Given the description of an element on the screen output the (x, y) to click on. 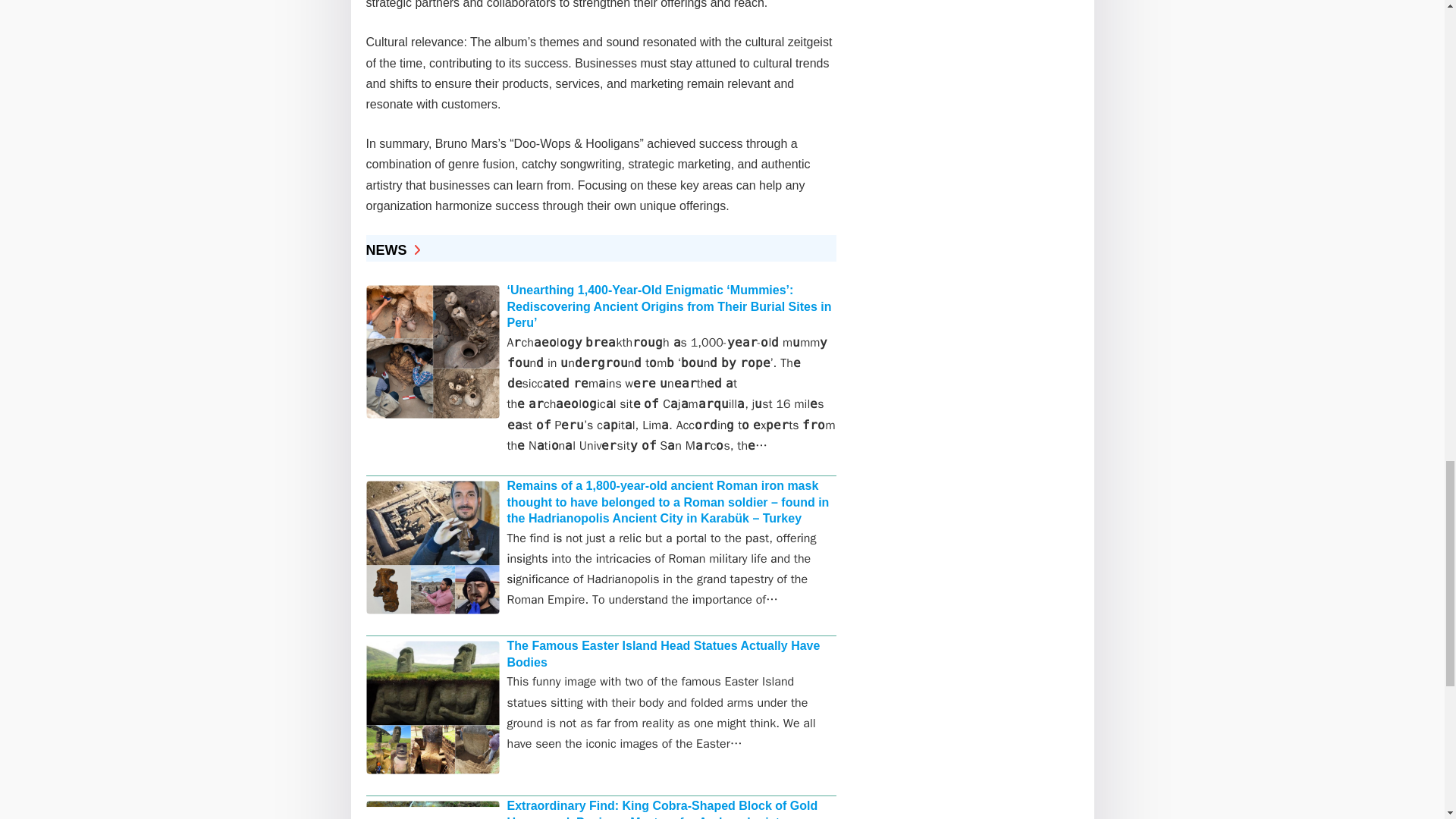
NEWS (392, 249)
The Famous Easter Island Head Statues Actually Have Bodies (662, 654)
